Given the description of an element on the screen output the (x, y) to click on. 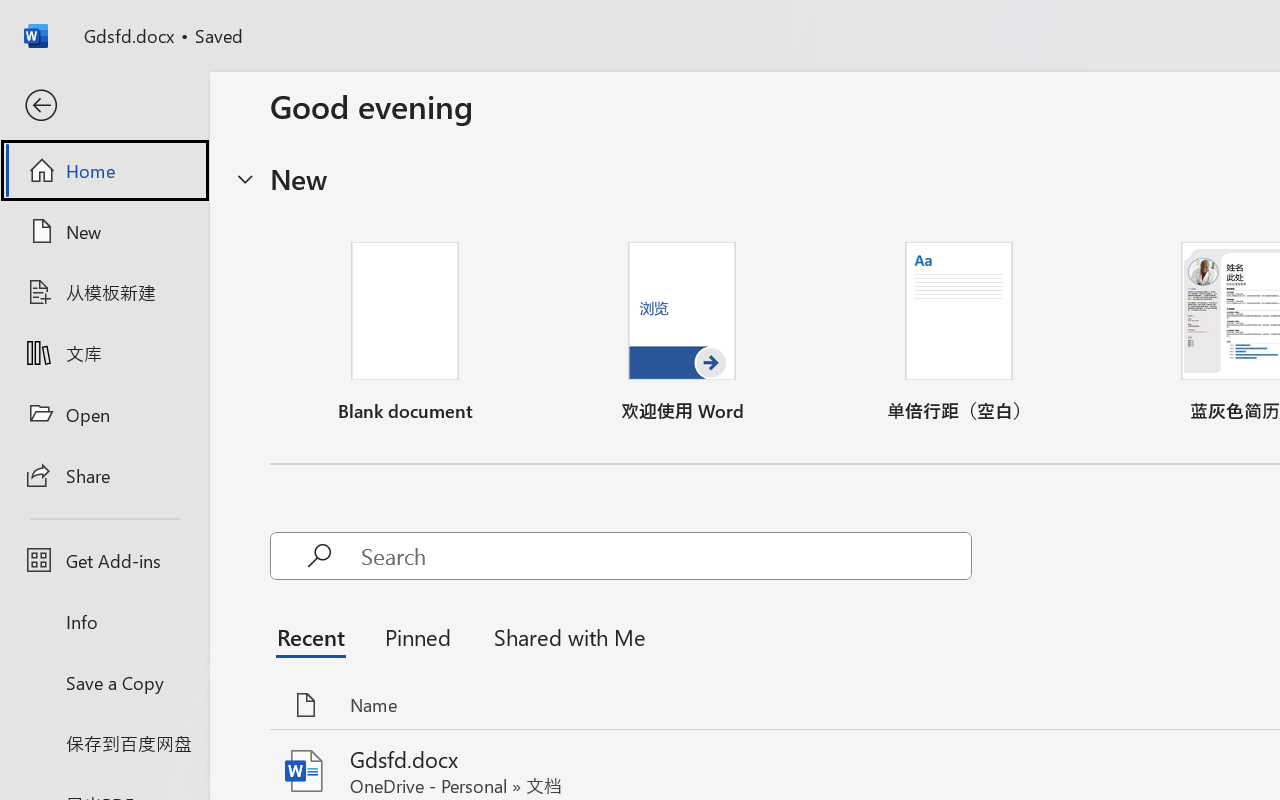
Pinned (417, 636)
Blank document (405, 332)
Search (665, 555)
